Given the description of an element on the screen output the (x, y) to click on. 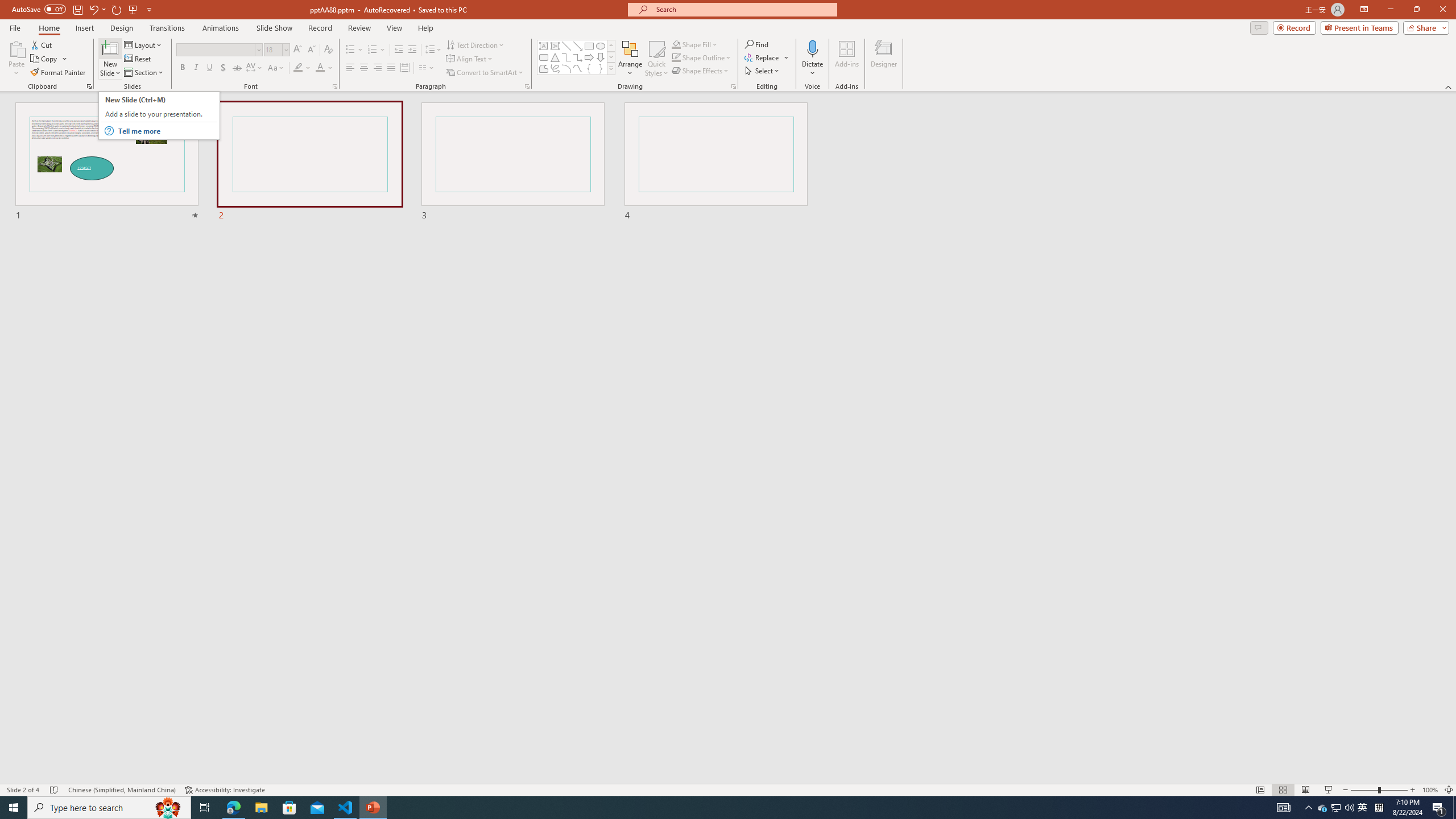
Character Spacing (254, 67)
Shape Fill (694, 44)
Font (219, 49)
Paragraph... (526, 85)
Record (320, 28)
Increase Indent (412, 49)
Spell Check No Errors (54, 790)
Microsoft search (742, 9)
Shape Outline Teal, Accent 1 (675, 56)
Shadow (223, 67)
Text Direction (476, 44)
Shape Fill Aqua, Accent 2 (675, 44)
Arrow: Right (589, 57)
System (6, 6)
